Given the description of an element on the screen output the (x, y) to click on. 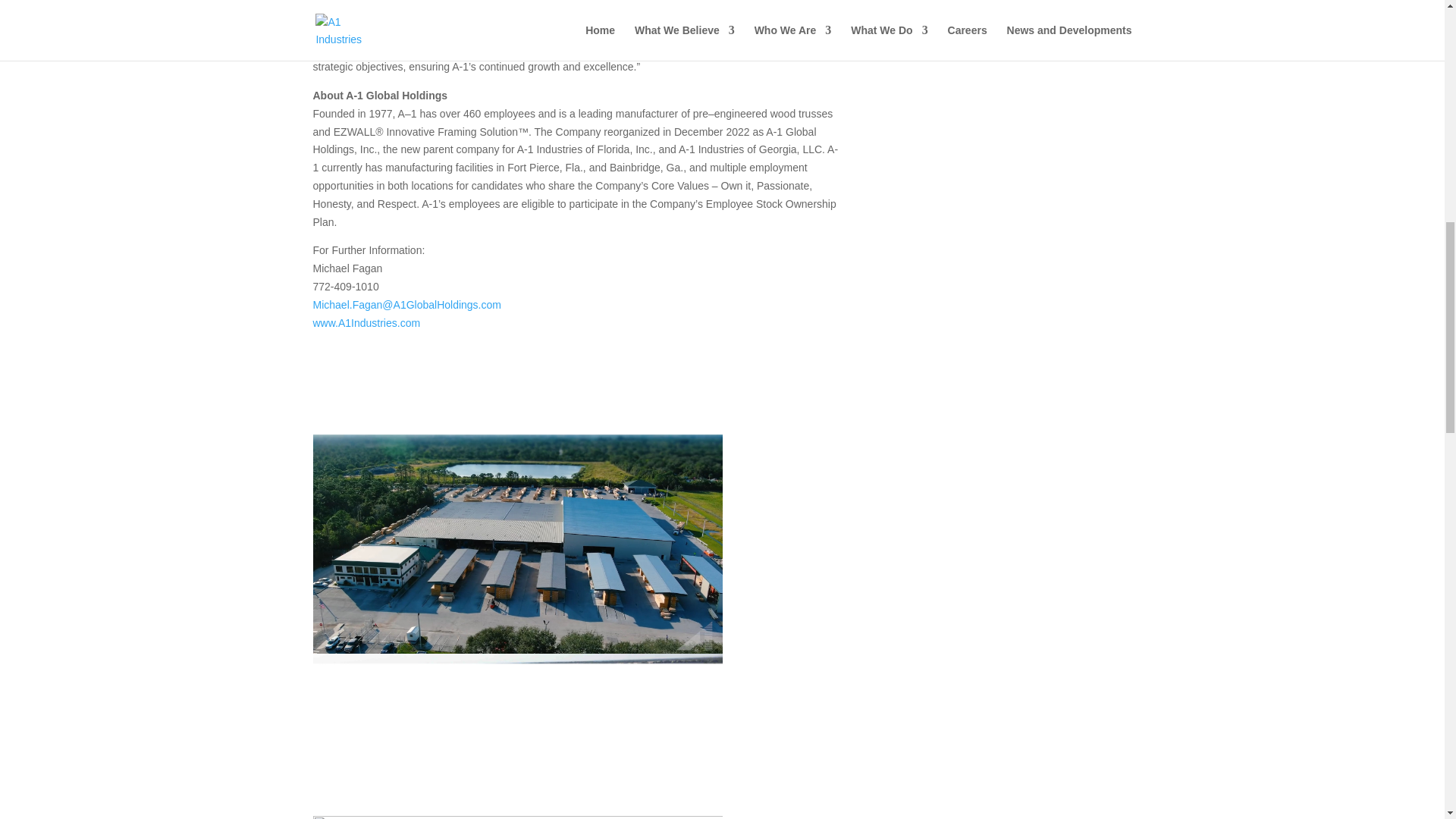
www.A1Industries.com (366, 322)
A-1 Industries Fort Pierce FL Operation (517, 543)
06 New Bainbridge GA faciltiy copy 3 (517, 734)
